Given the description of an element on the screen output the (x, y) to click on. 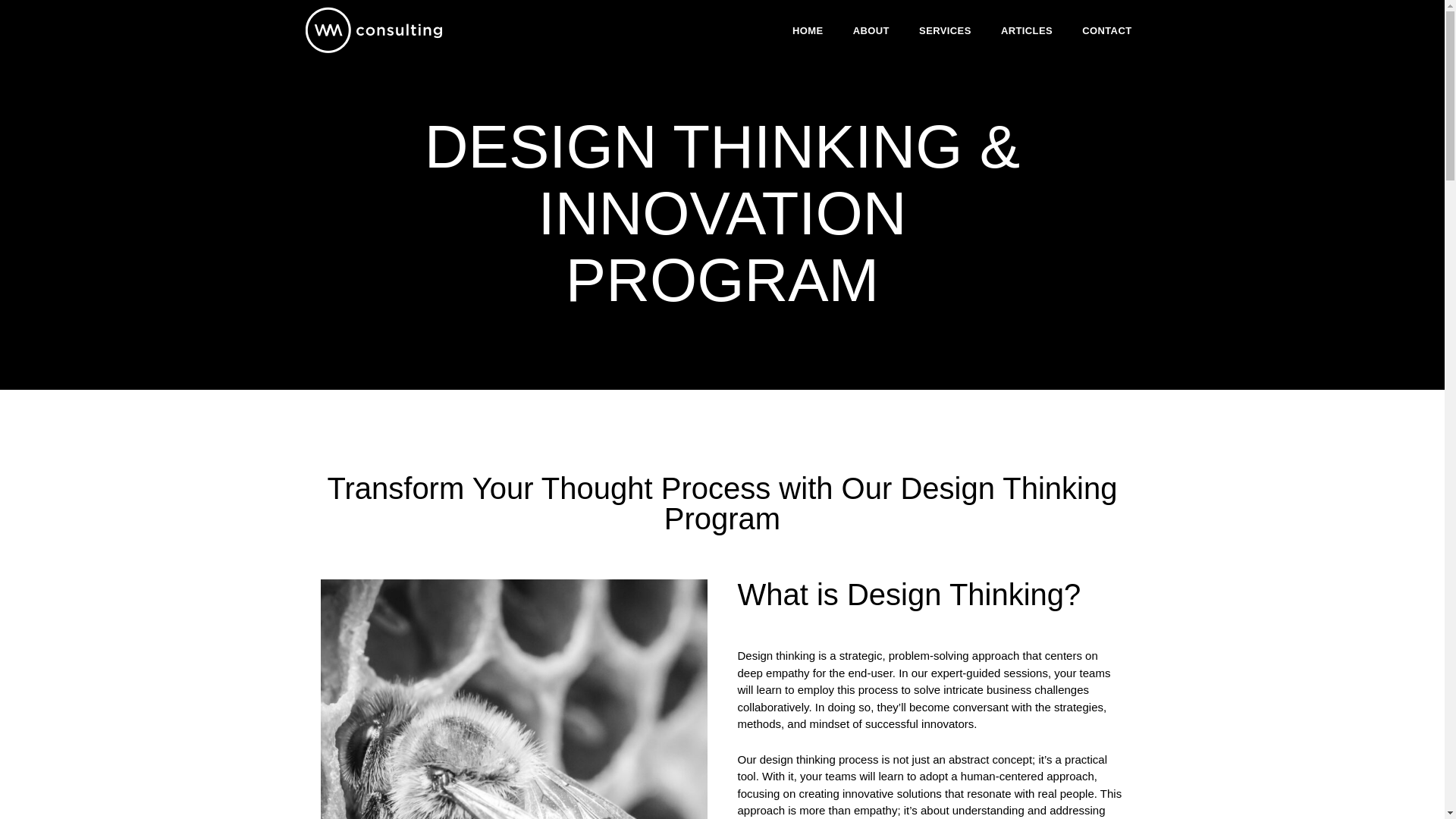
SERVICES (944, 30)
HOME (808, 30)
ABOUT (871, 30)
ARTICLES (1026, 30)
CONTACT (1106, 30)
